Given the description of an element on the screen output the (x, y) to click on. 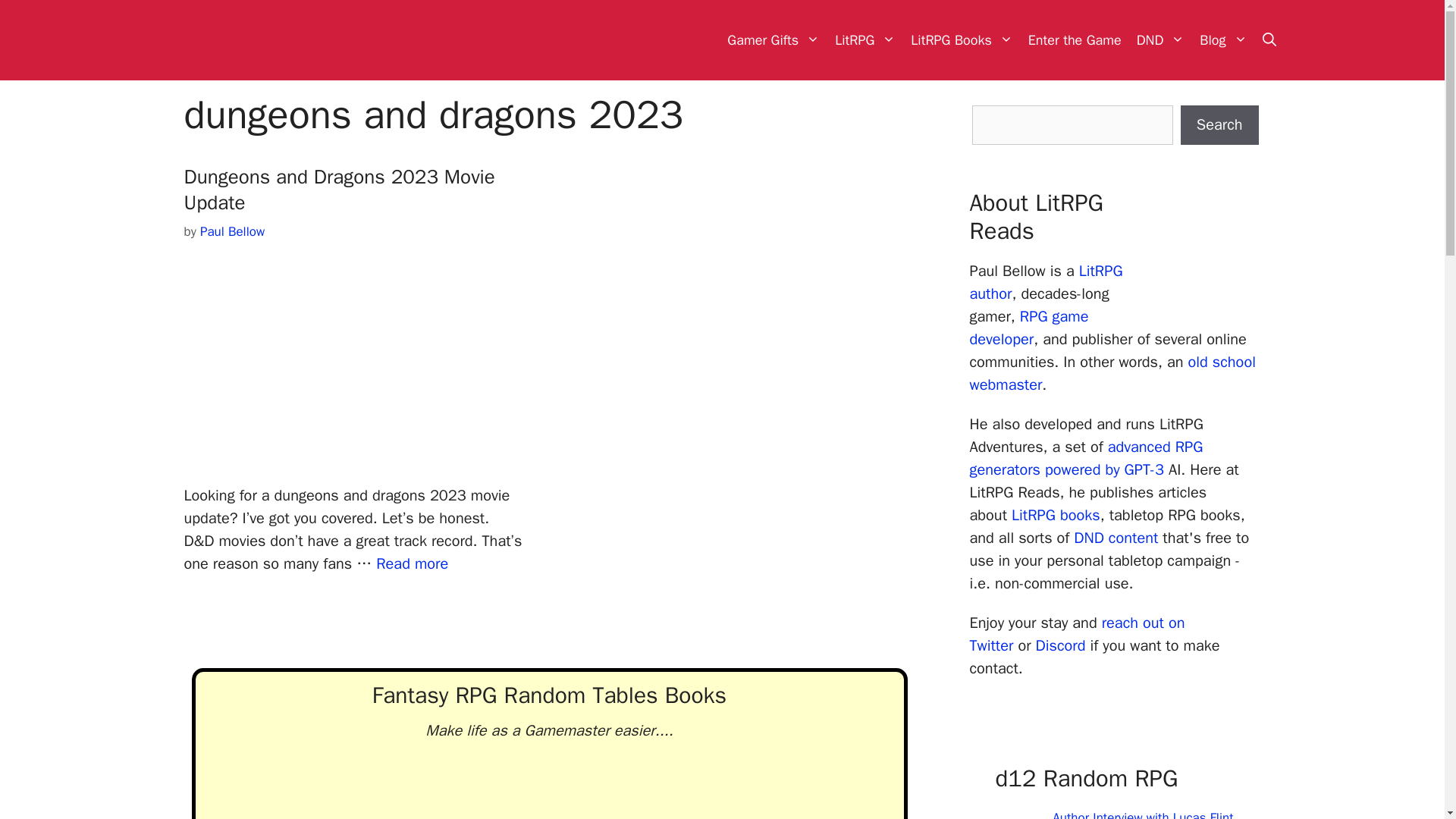
View all posts by Paul Bellow (232, 231)
LitRPG Books (961, 39)
Gamer Gifts (773, 39)
DND (1160, 39)
Enter the Game (1074, 39)
Dungeons and Dragons 2023 Movie Update (411, 563)
LitRPG (864, 39)
